Given the description of an element on the screen output the (x, y) to click on. 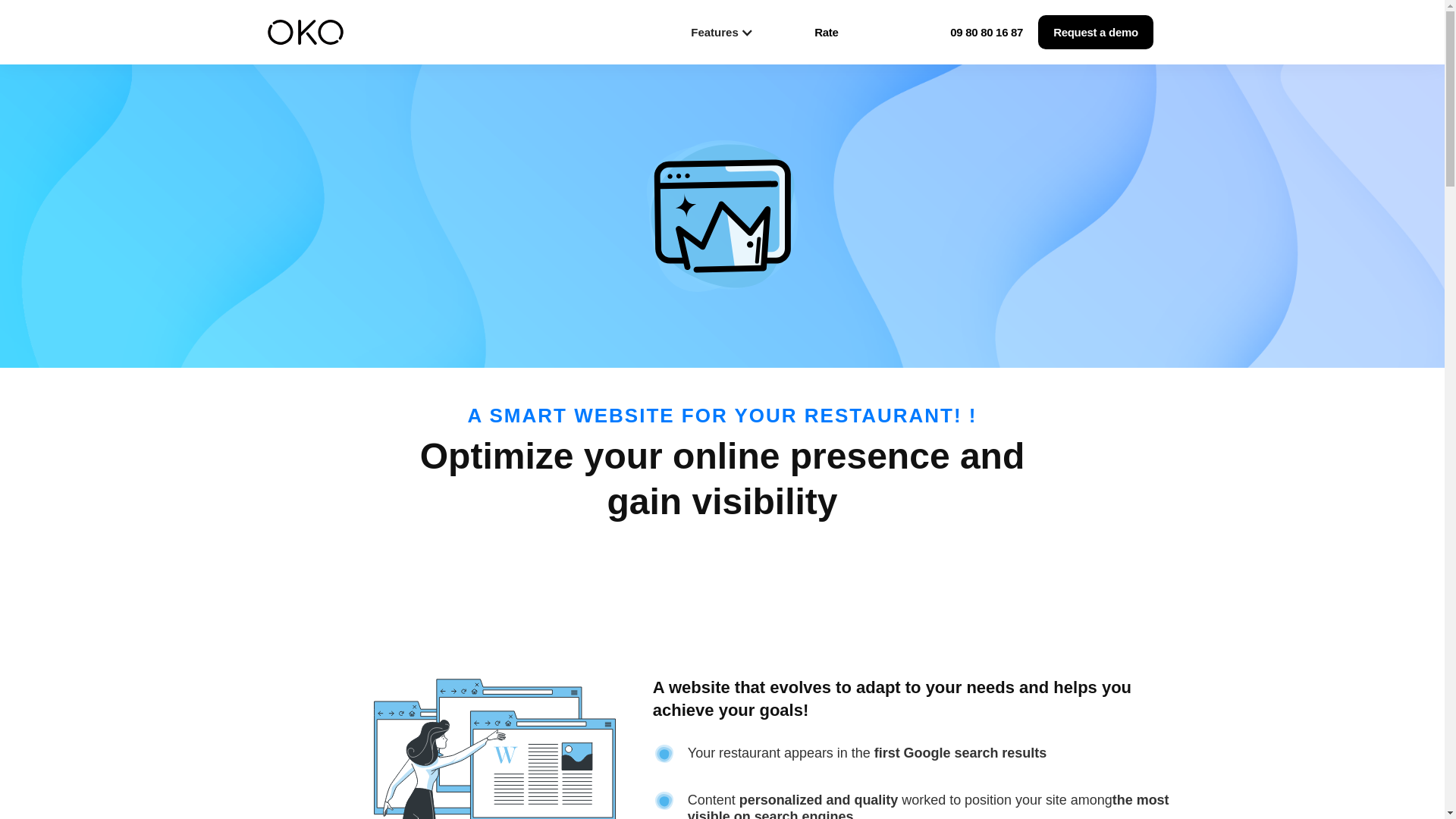
Rate (826, 31)
Request a demo (1095, 32)
09 80 80 16 87 (986, 31)
